Given the description of an element on the screen output the (x, y) to click on. 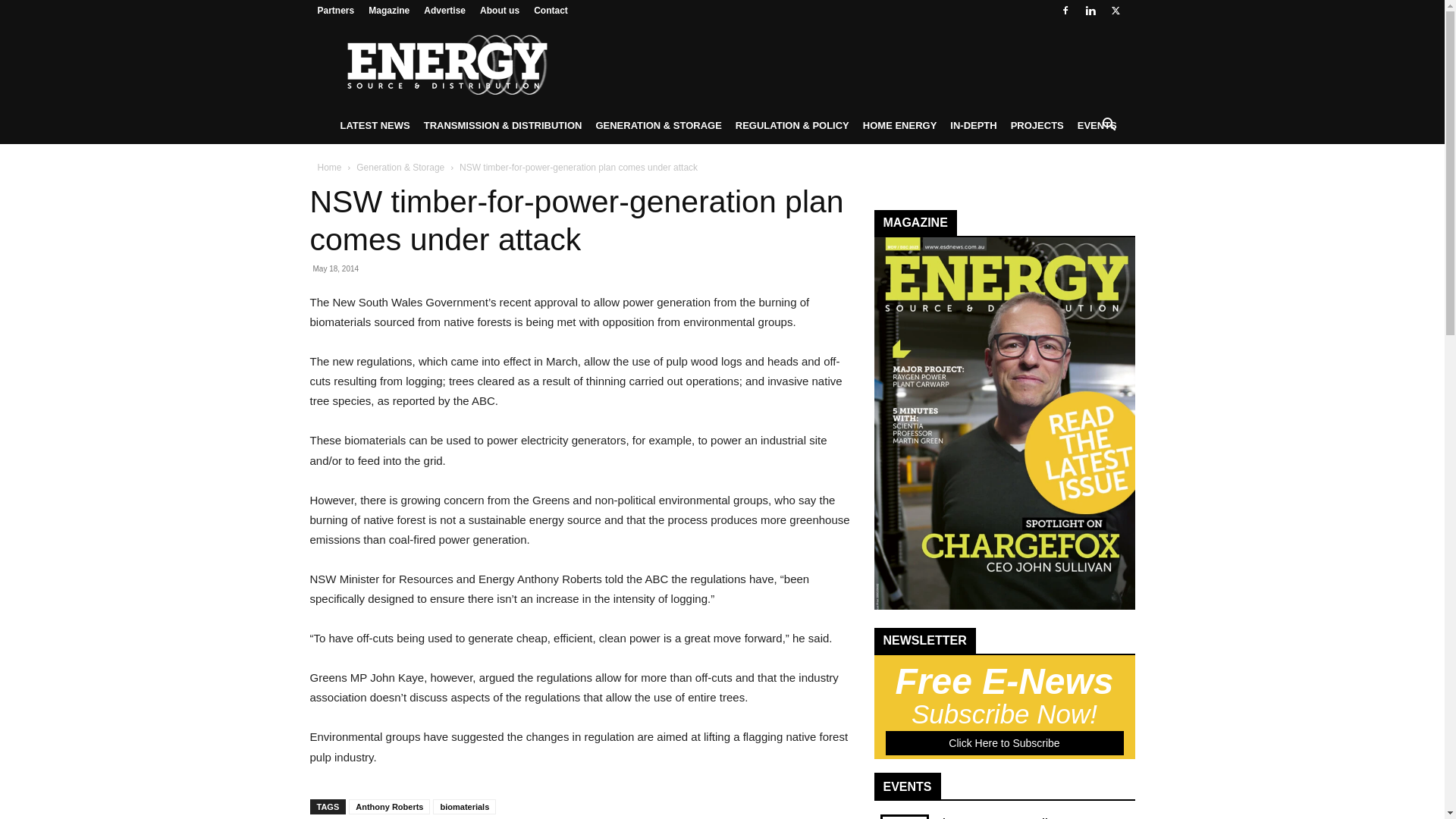
Home Element type: text (328, 167)
IN-DEPTH Element type: text (973, 125)
Generation & Storage Element type: text (400, 167)
HOME ENERGY Element type: text (900, 125)
LATEST NEWS Element type: text (375, 125)
GENERATION & STORAGE Element type: text (658, 125)
Contact Element type: text (550, 10)
Twitter Element type: hover (1115, 10)
About us Element type: text (499, 10)
EVENTS Element type: text (1096, 125)
Advertise Element type: text (444, 10)
Linkedin Element type: hover (1090, 10)
Magazine Element type: hover (1003, 605)
PROJECTS Element type: text (1037, 125)
Click Here to Subscribe Element type: text (1004, 743)
TRANSMISSION & DISTRIBUTION Element type: text (503, 125)
Partners Element type: text (335, 10)
Energy Source & Distribution Element type: hover (445, 64)
REGULATION & POLICY Element type: text (792, 125)
biomaterials Element type: text (464, 806)
Free E-News
Subscribe Now! Element type: text (1004, 698)
Anthony Roberts Element type: text (388, 806)
Search Element type: text (1084, 186)
Facebook Element type: hover (1065, 10)
Magazine Element type: text (388, 10)
